Given the description of an element on the screen output the (x, y) to click on. 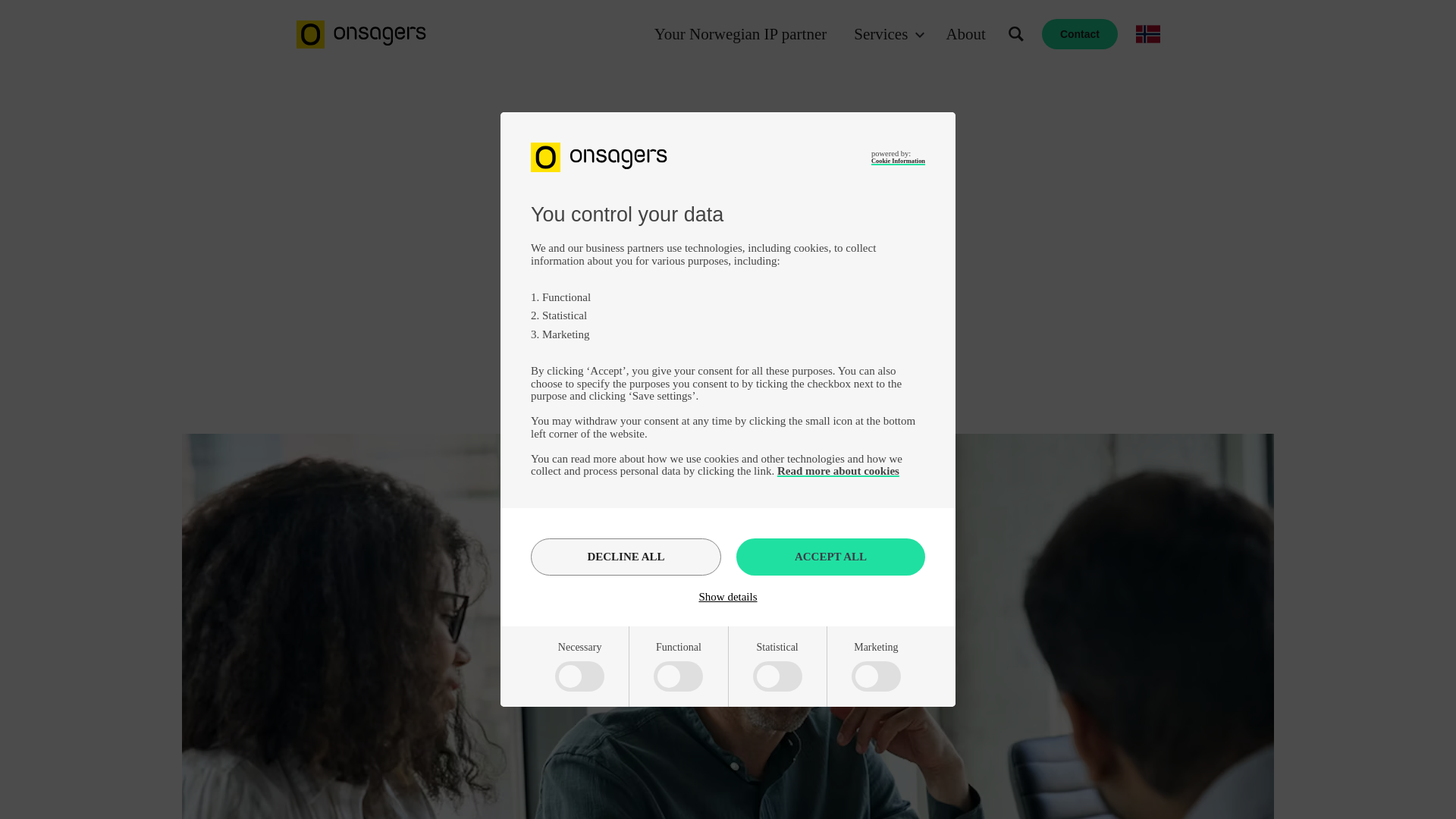
Read more about cookies (838, 470)
Show details (727, 596)
DECLINE ALL (625, 556)
Cookie Information (897, 161)
ACCEPT ALL (830, 556)
